Given the description of an element on the screen output the (x, y) to click on. 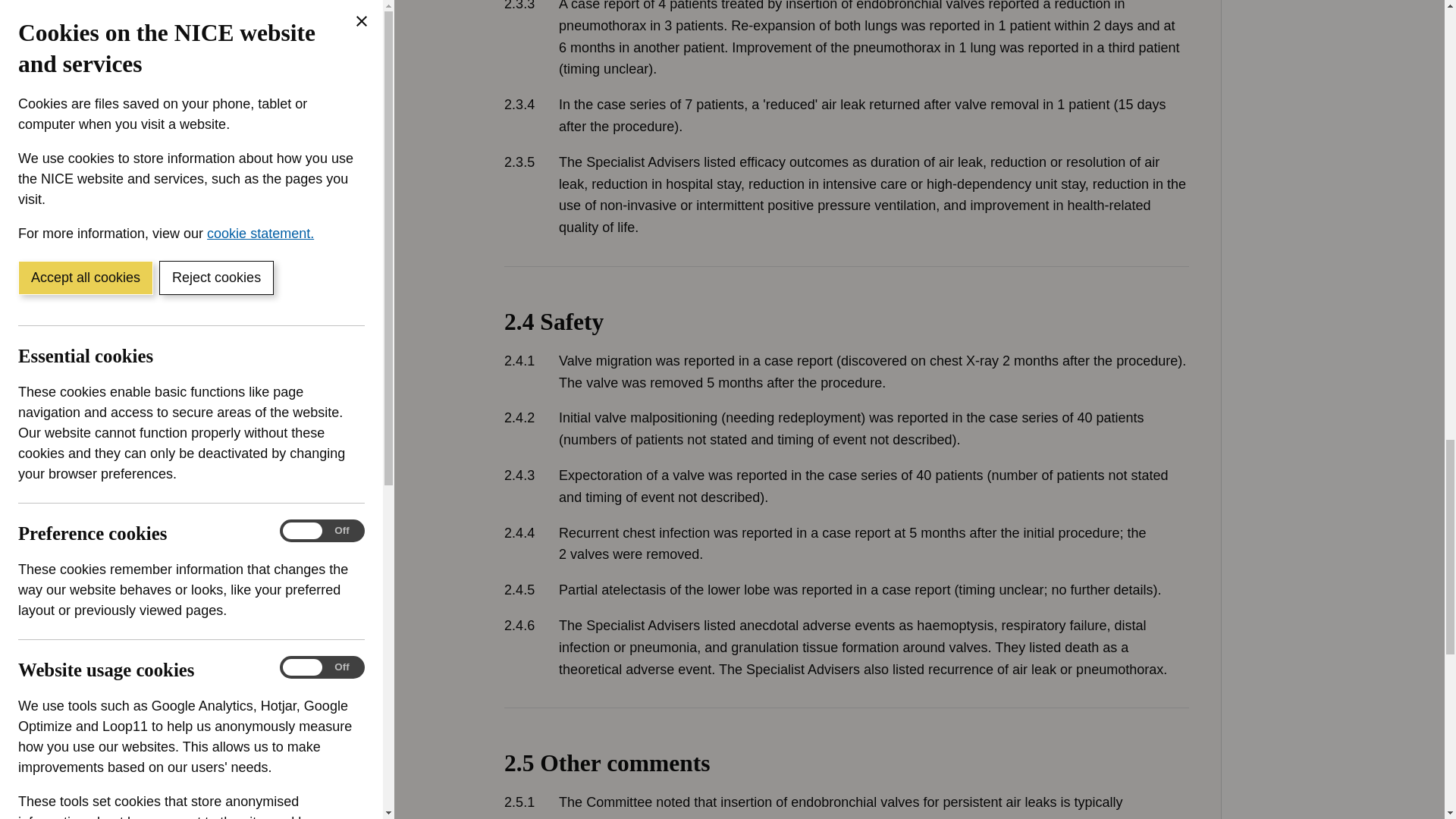
2.5 Other comments (845, 763)
